Given the description of an element on the screen output the (x, y) to click on. 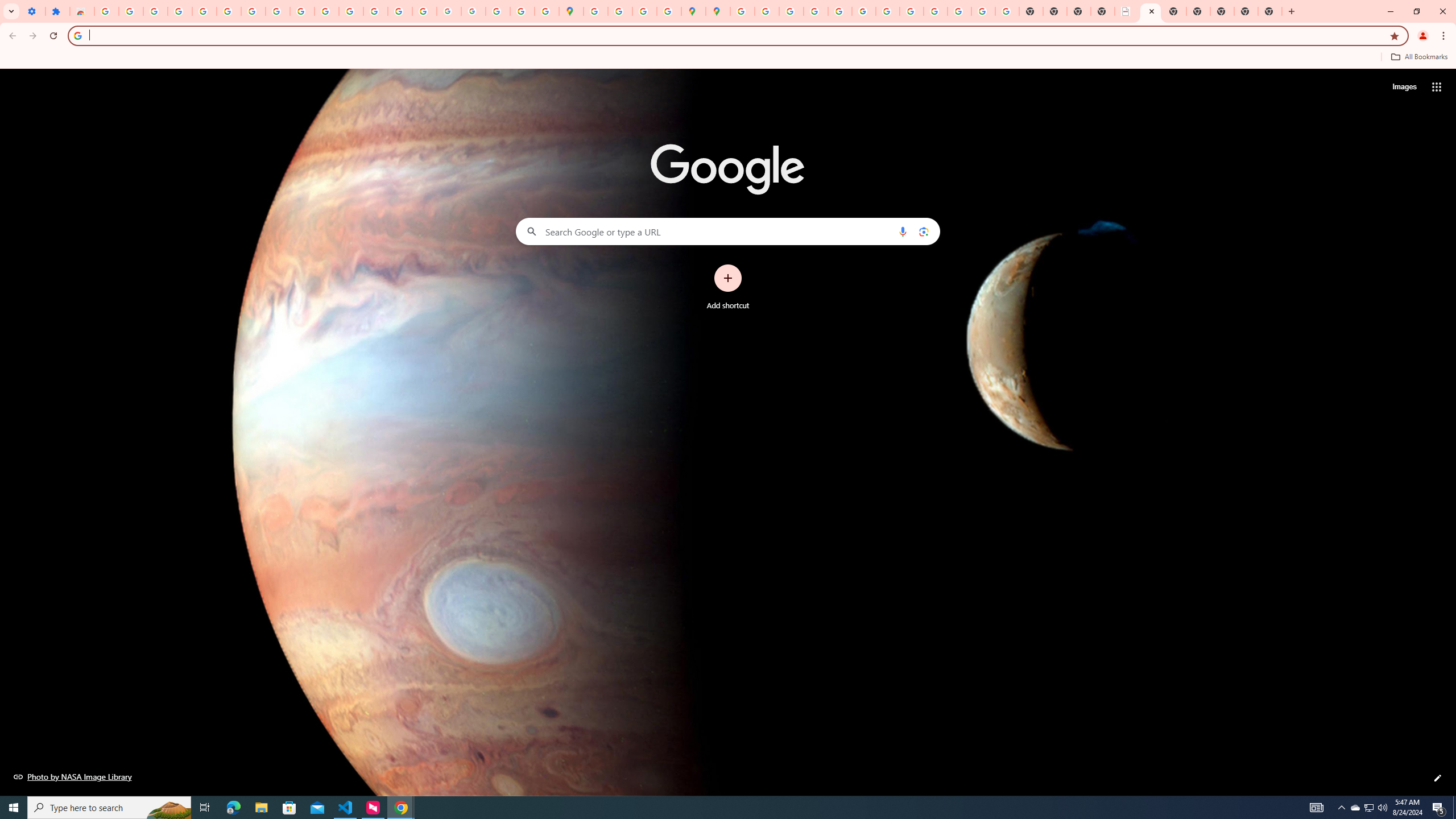
Search icon (77, 35)
Search by voice (902, 230)
New Tab (1270, 11)
LAAD Defence & Security 2025 | BAE Systems (1126, 11)
Privacy Help Center - Policies Help (814, 11)
